Given the description of an element on the screen output the (x, y) to click on. 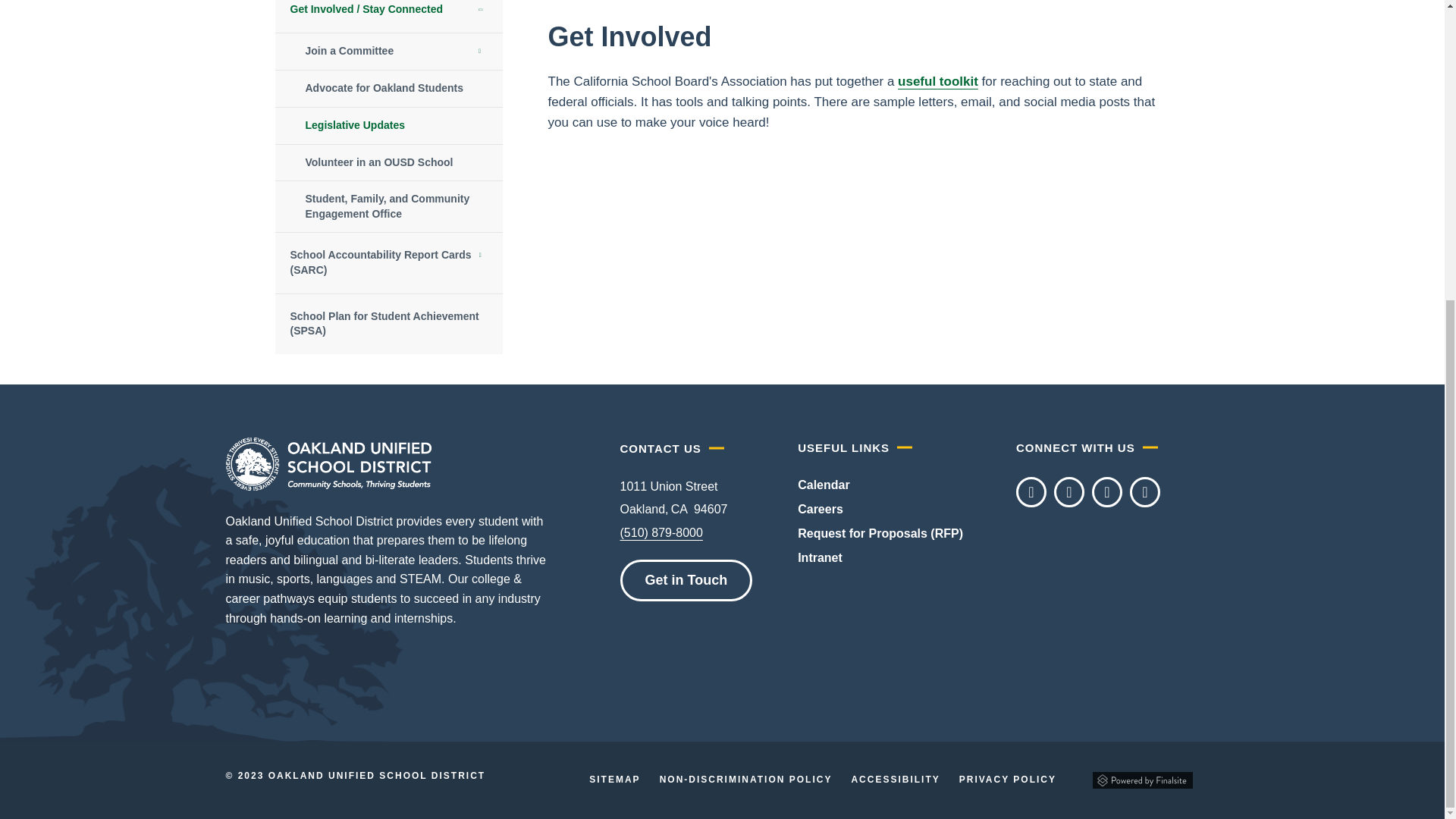
Powered by Finalsite opens in a new window (1142, 780)
